Given the description of an element on the screen output the (x, y) to click on. 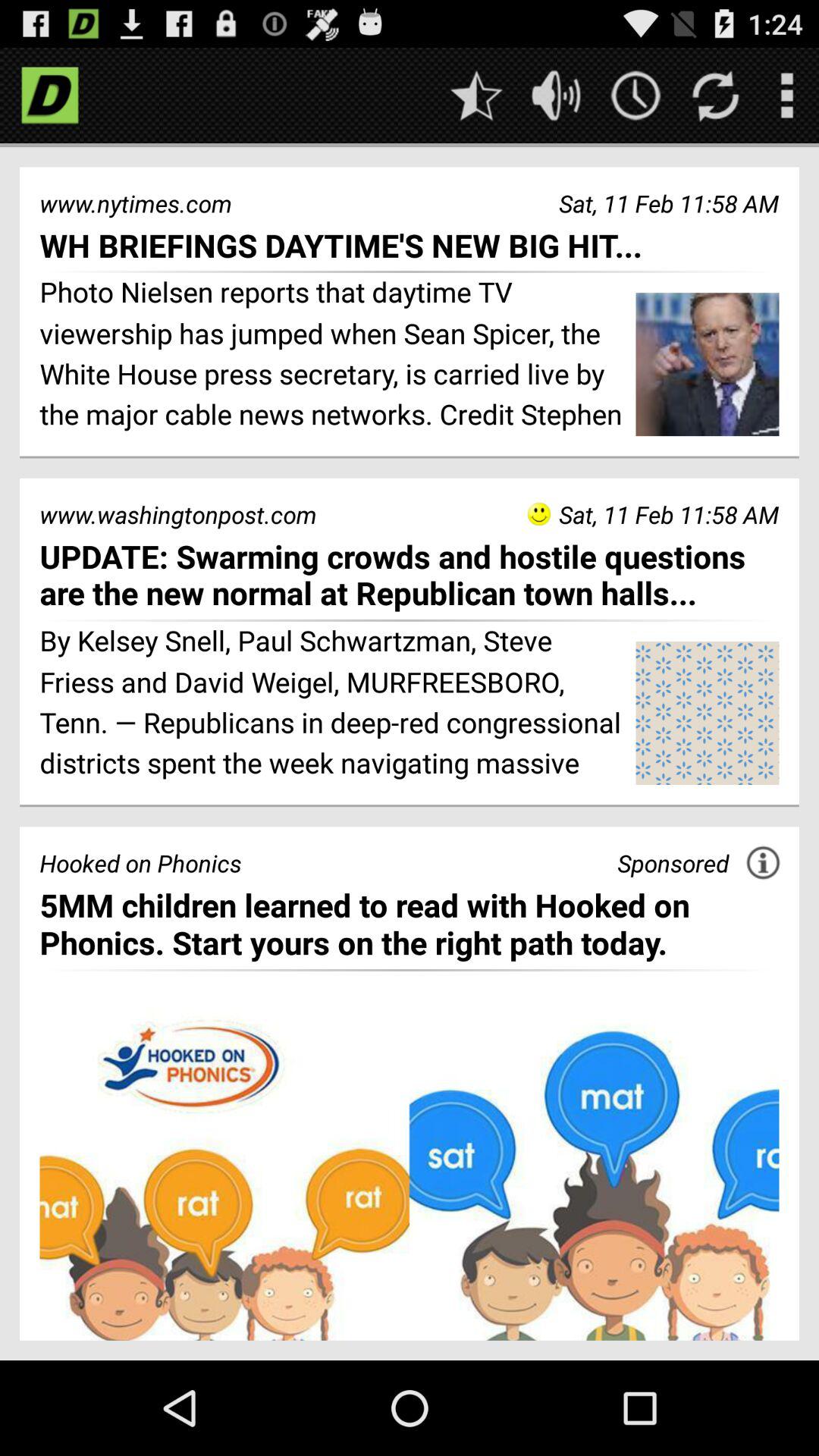
information about this advertisement (763, 862)
